Given the description of an element on the screen output the (x, y) to click on. 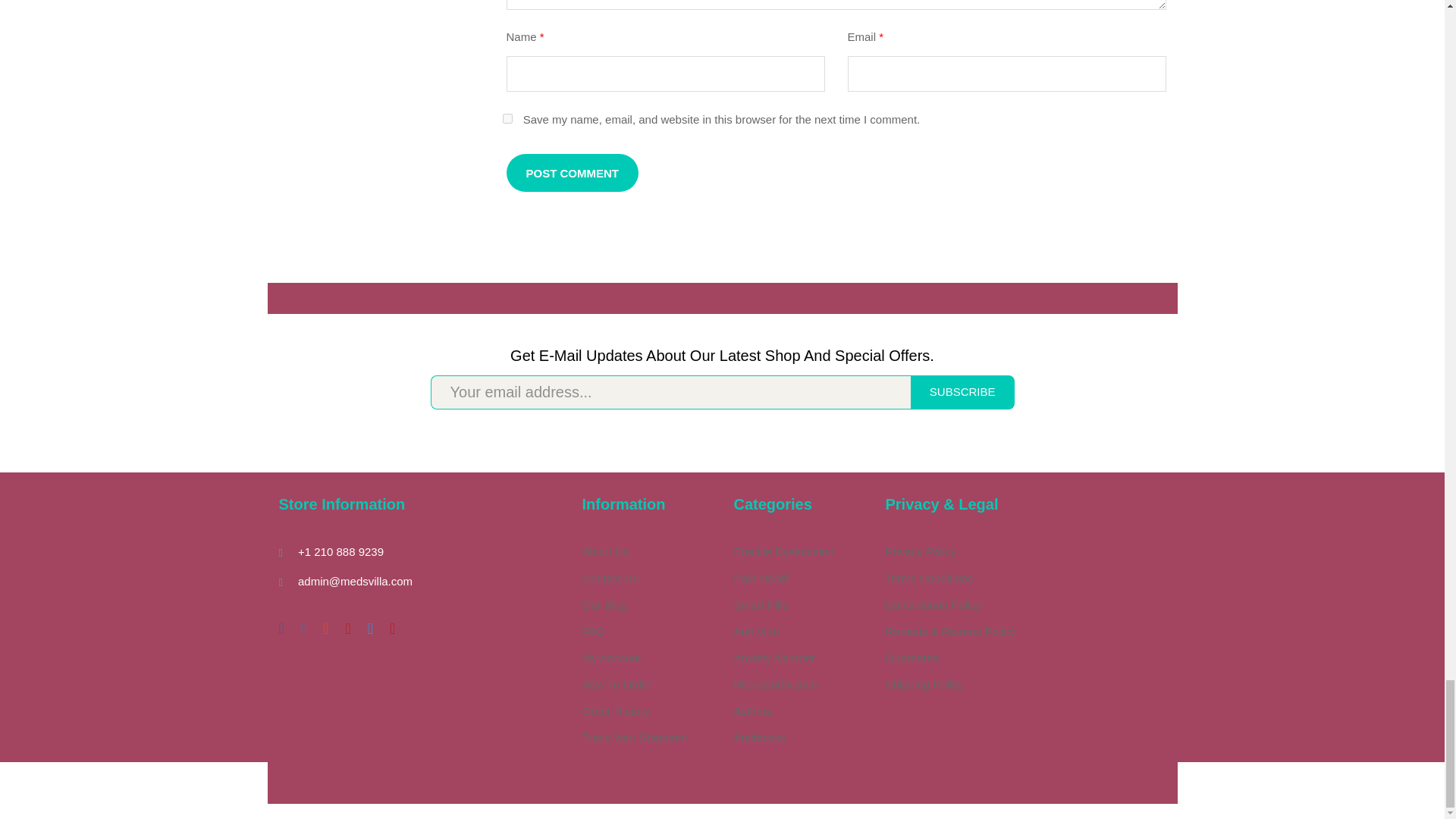
Subscribe (962, 392)
yes (507, 118)
Post Comment (572, 172)
